Given the description of an element on the screen output the (x, y) to click on. 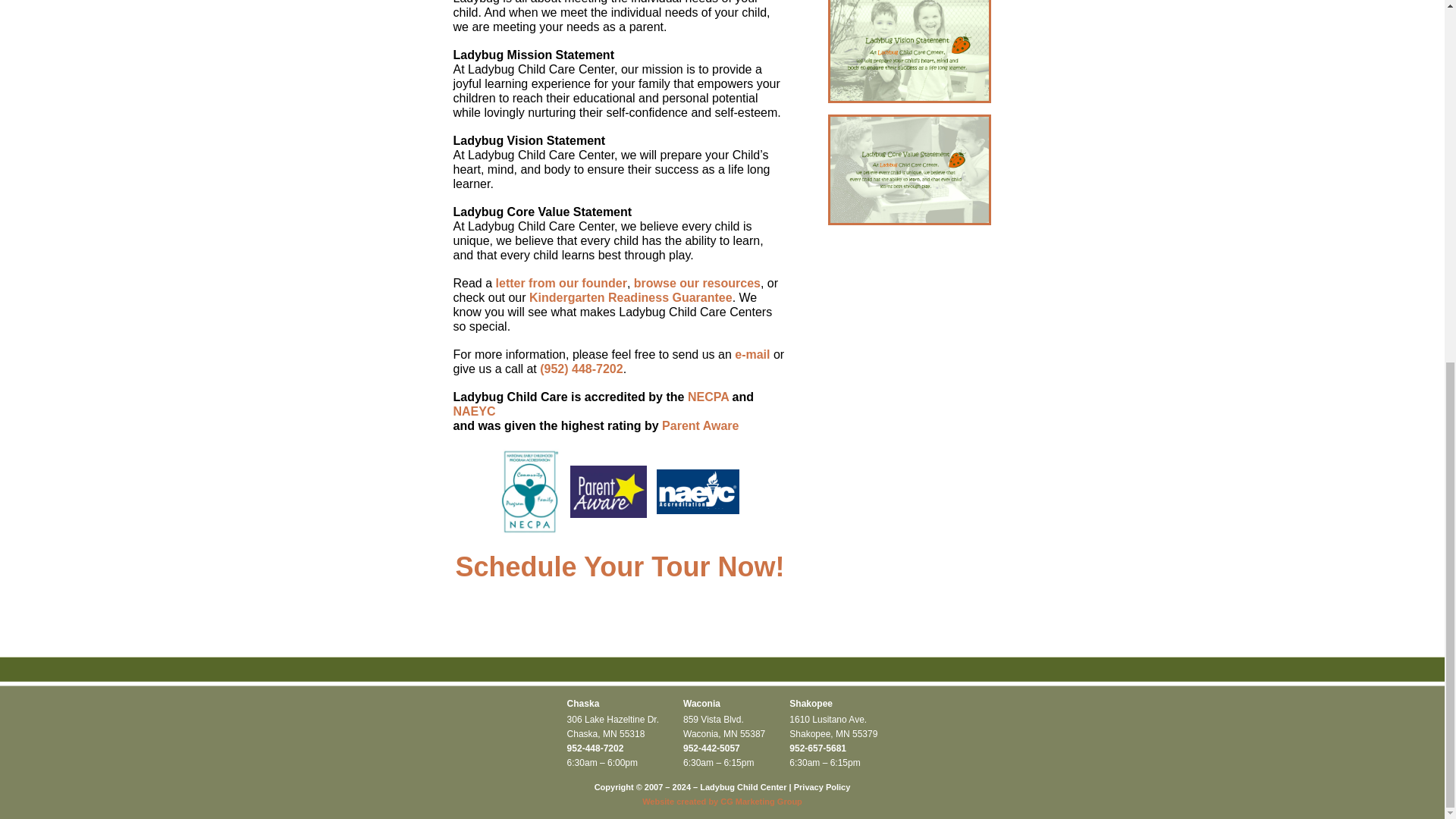
Resources (696, 282)
Parent Aware Certification (700, 425)
A Letter From Our President (561, 282)
National Early Childhood Program Accreditation (708, 396)
Kindergarten Readiness Guarantee (630, 297)
